Given the description of an element on the screen output the (x, y) to click on. 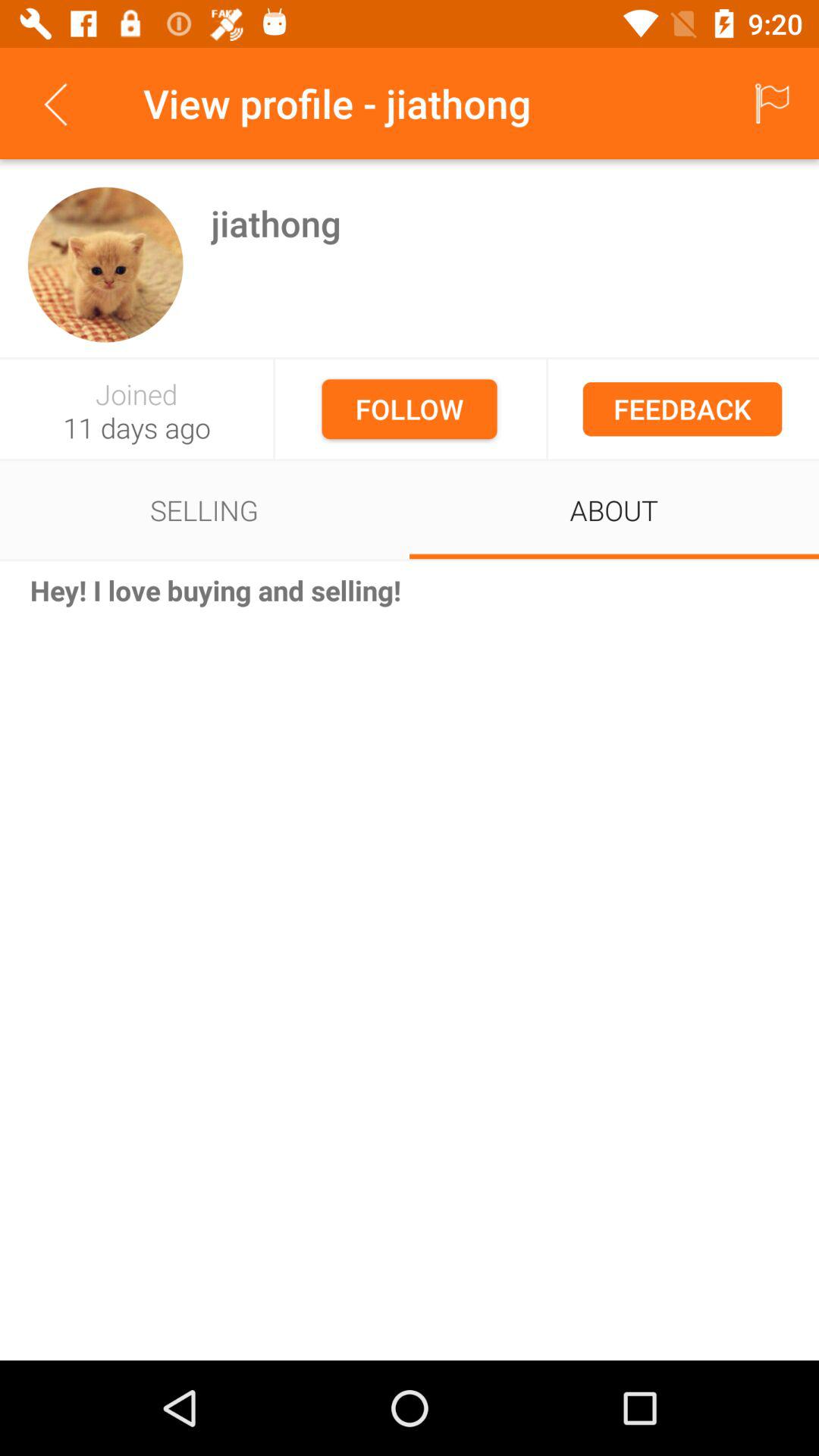
launch the follow icon (409, 409)
